Given the description of an element on the screen output the (x, y) to click on. 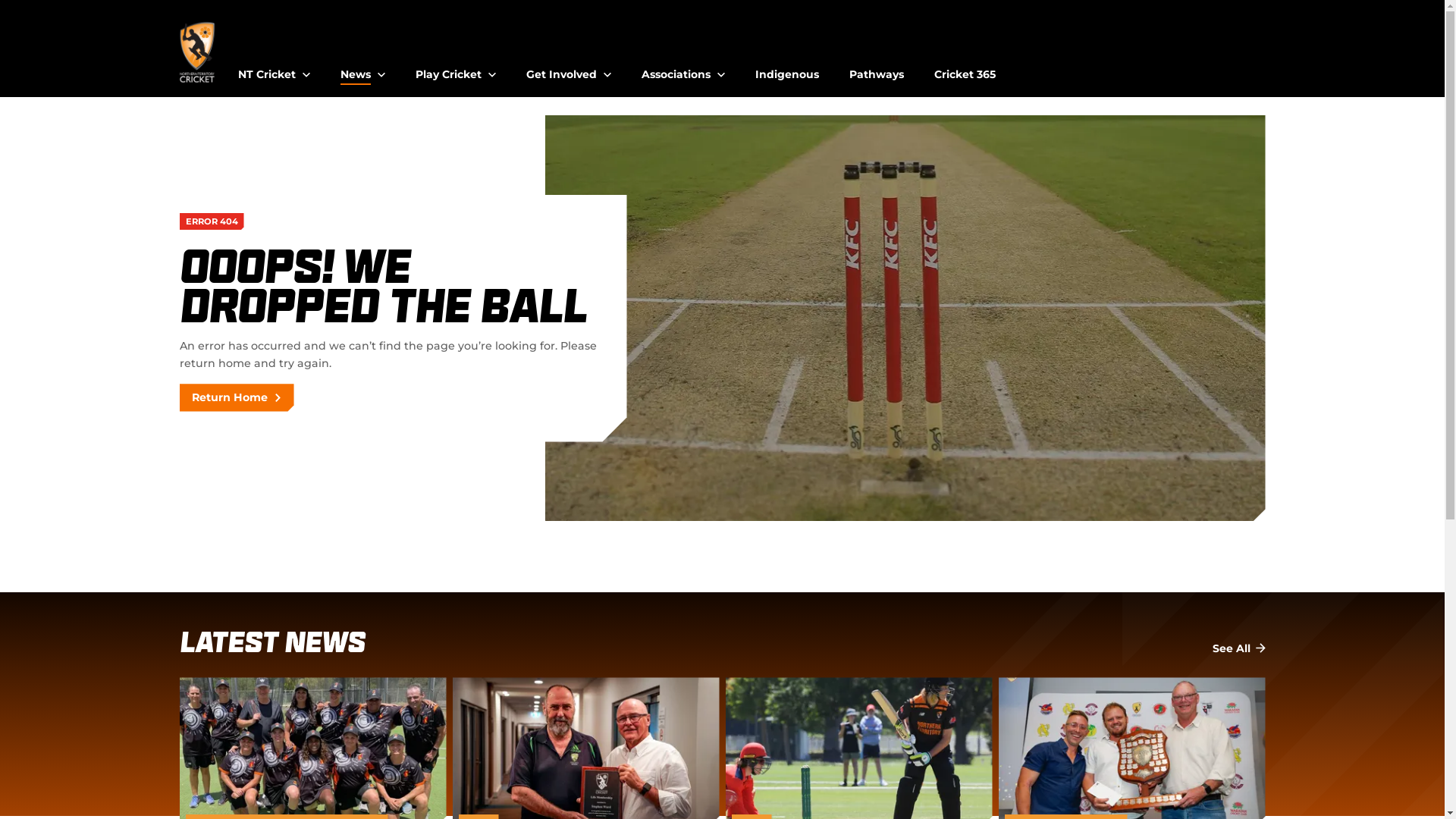
Indigenous Element type: text (787, 68)
Play Cricket Element type: text (455, 68)
Cricket 365 Element type: text (964, 68)
News Element type: text (362, 68)
Get Involved Element type: text (568, 68)
Return Home Element type: text (235, 397)
Return to Homepage Element type: hover (196, 51)
Pathways Element type: text (876, 68)
See All Element type: text (1237, 648)
NT Cricket Element type: text (273, 68)
Associations Element type: text (683, 68)
